Given the description of an element on the screen output the (x, y) to click on. 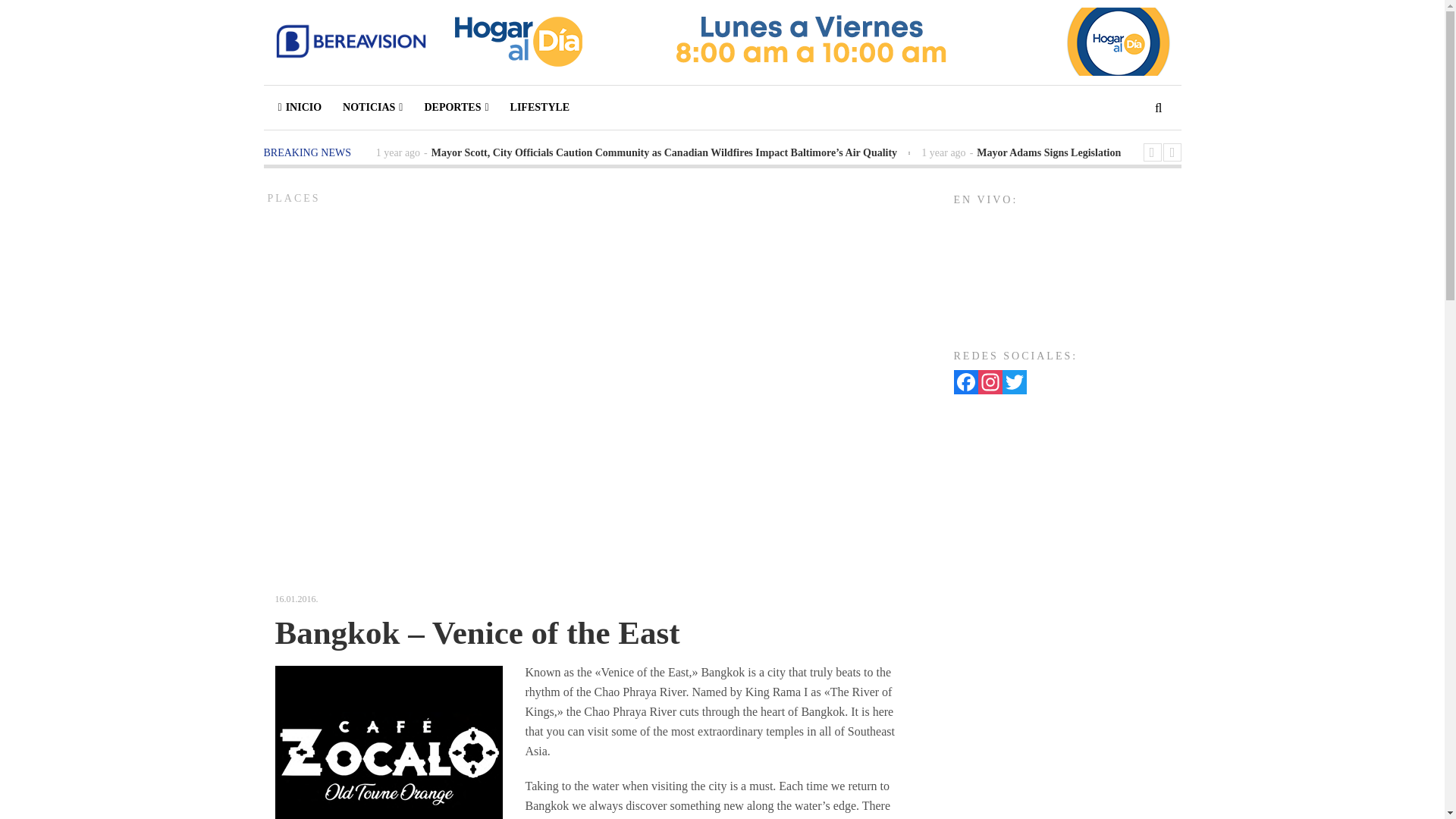
DEPORTES (456, 107)
INICIO (298, 107)
NOTICIAS (372, 107)
